Given the description of an element on the screen output the (x, y) to click on. 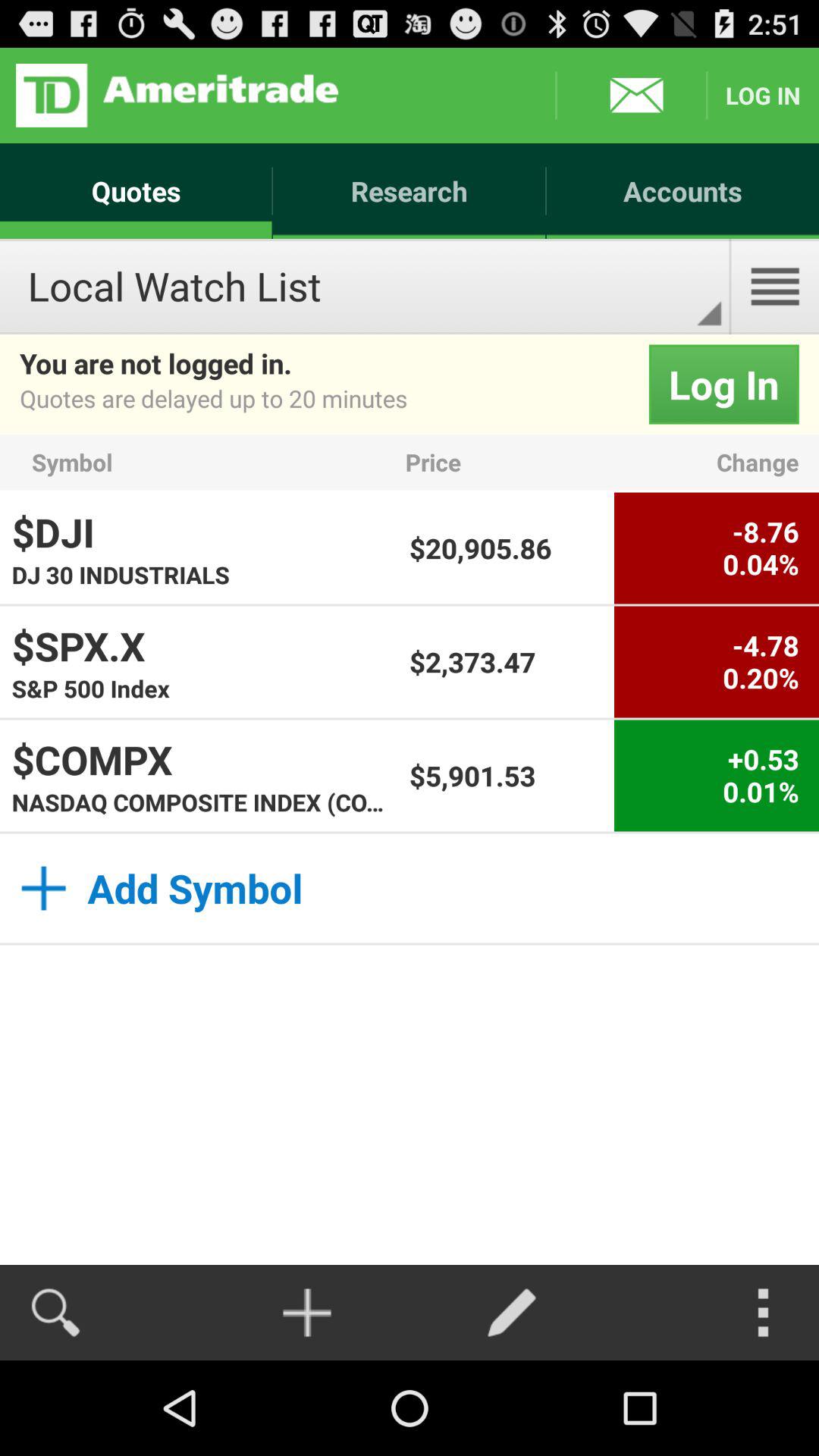
ameritade (176, 95)
